Given the description of an element on the screen output the (x, y) to click on. 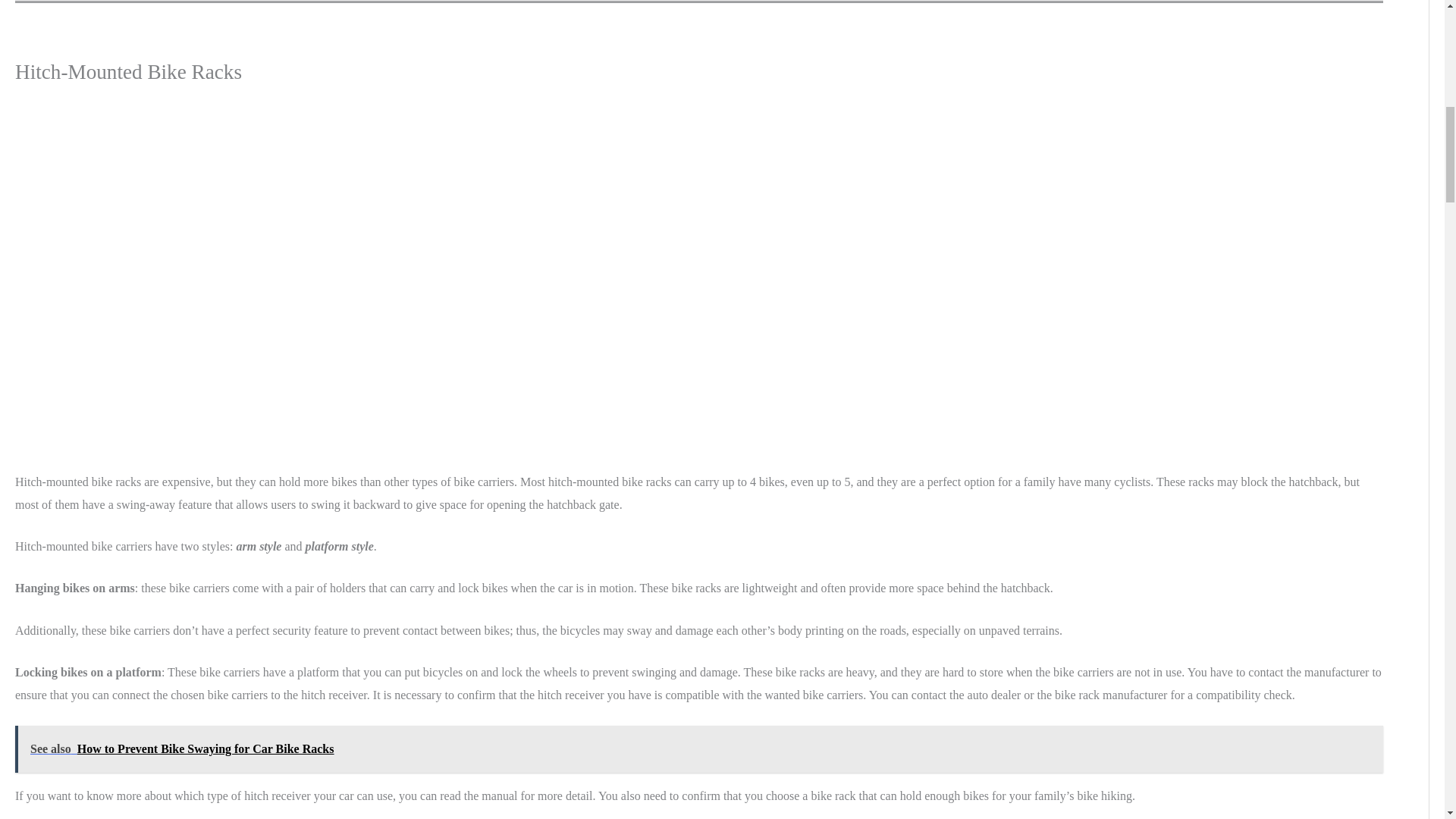
See also  How to Prevent Bike Swaying for Car Bike Racks (698, 749)
